Given the description of an element on the screen output the (x, y) to click on. 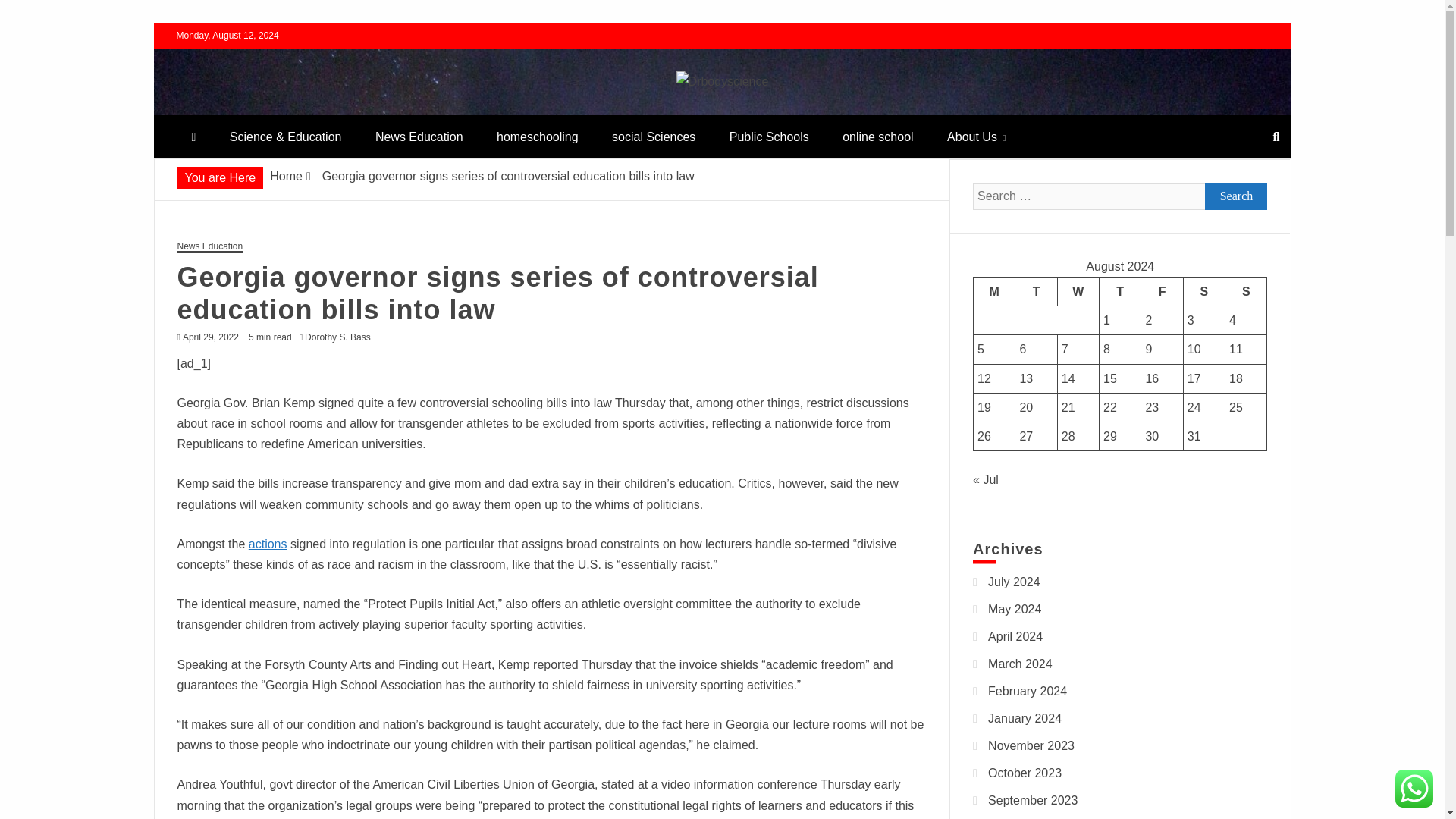
actions (267, 543)
Monday (994, 290)
Search (1235, 195)
News Education (419, 136)
Search (1235, 195)
Wednesday (1078, 290)
online school (877, 136)
social Sciences (653, 136)
homeschooling (537, 136)
Home (285, 175)
